Given the description of an element on the screen output the (x, y) to click on. 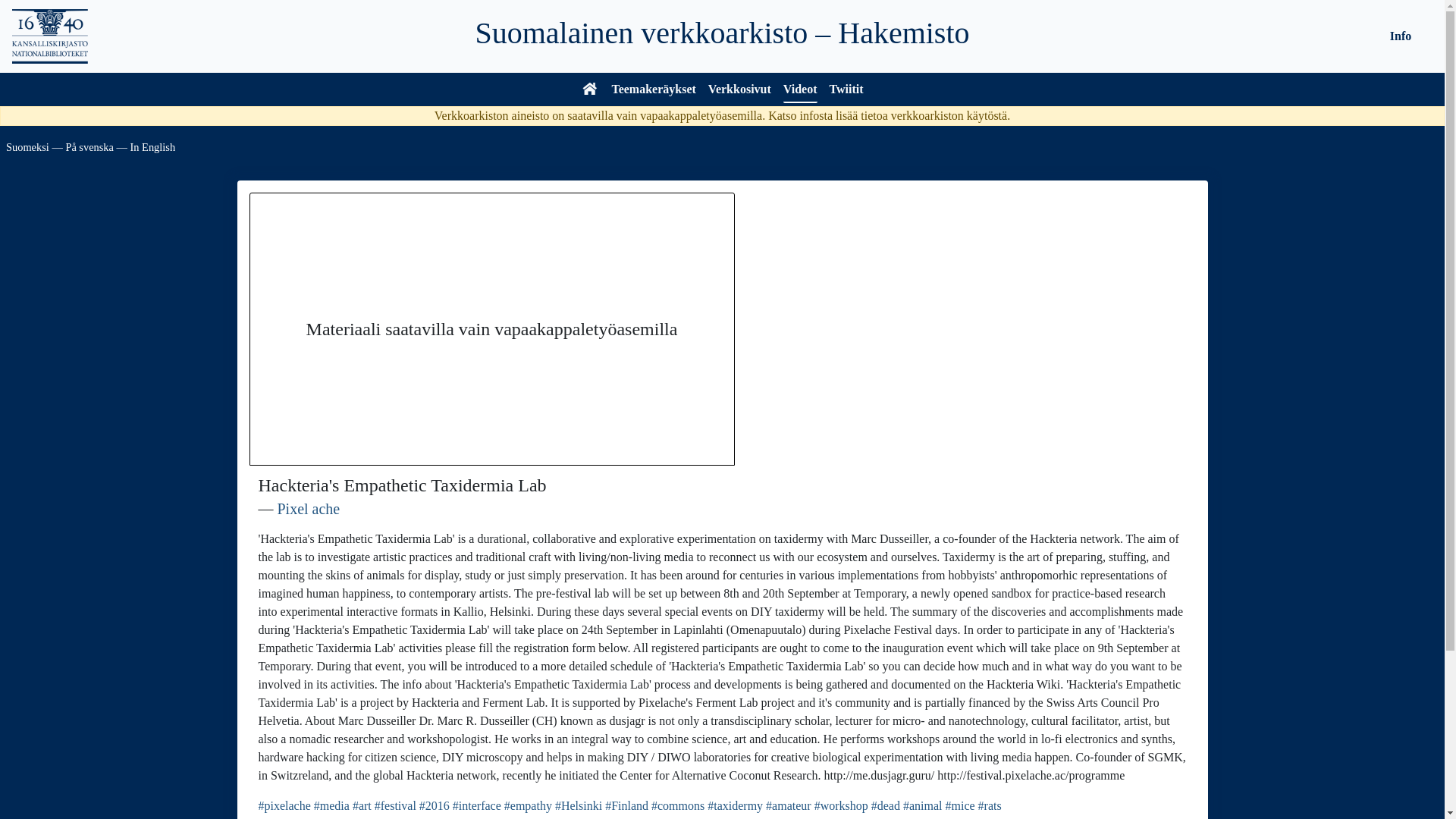
Suomeksi (27, 146)
In English (153, 146)
Verkkosivut (739, 90)
Pixel ache (309, 508)
Twiitit (846, 90)
Videot (799, 90)
